Given the description of an element on the screen output the (x, y) to click on. 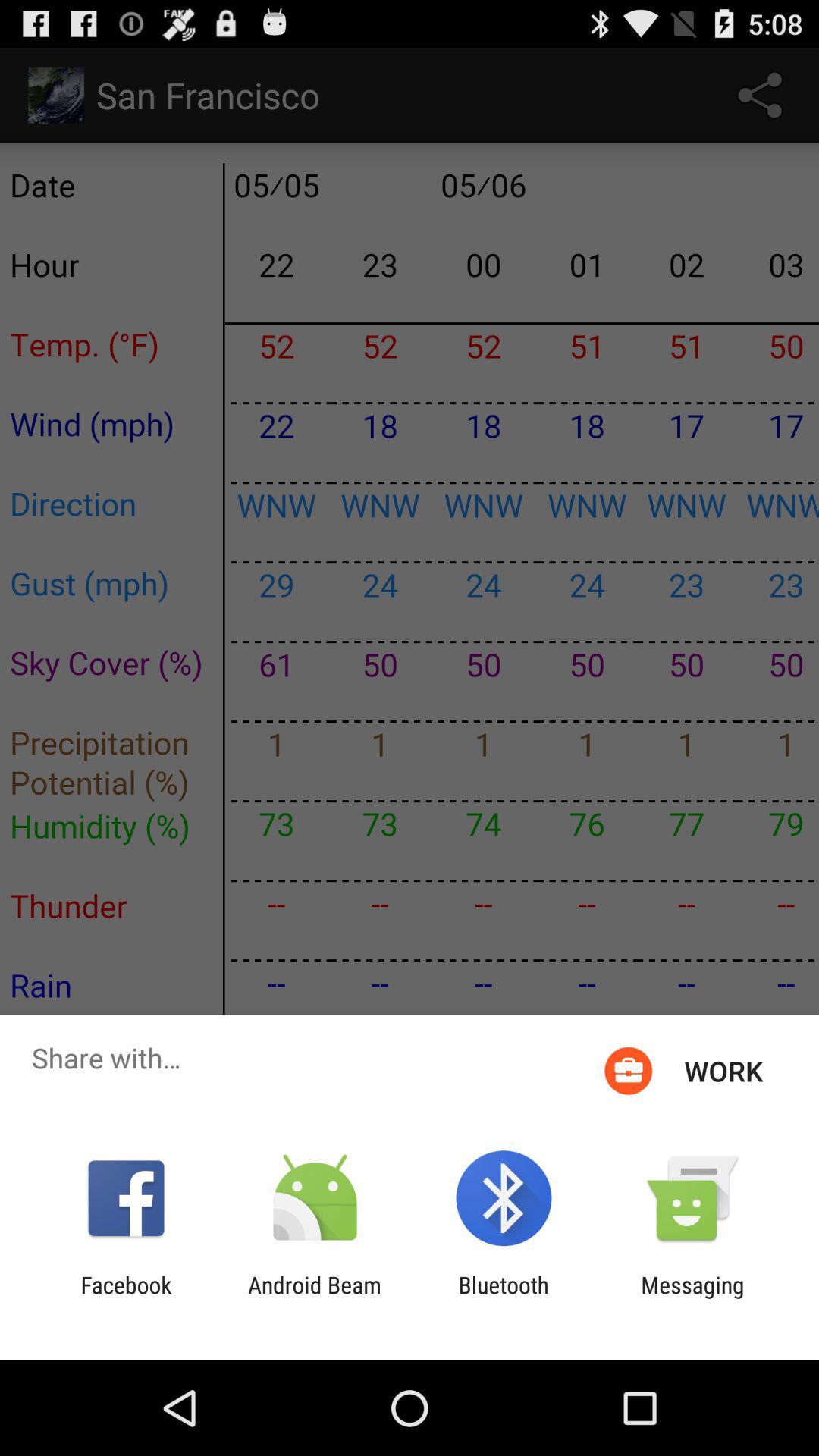
choose icon to the left of the bluetooth (314, 1298)
